Given the description of an element on the screen output the (x, y) to click on. 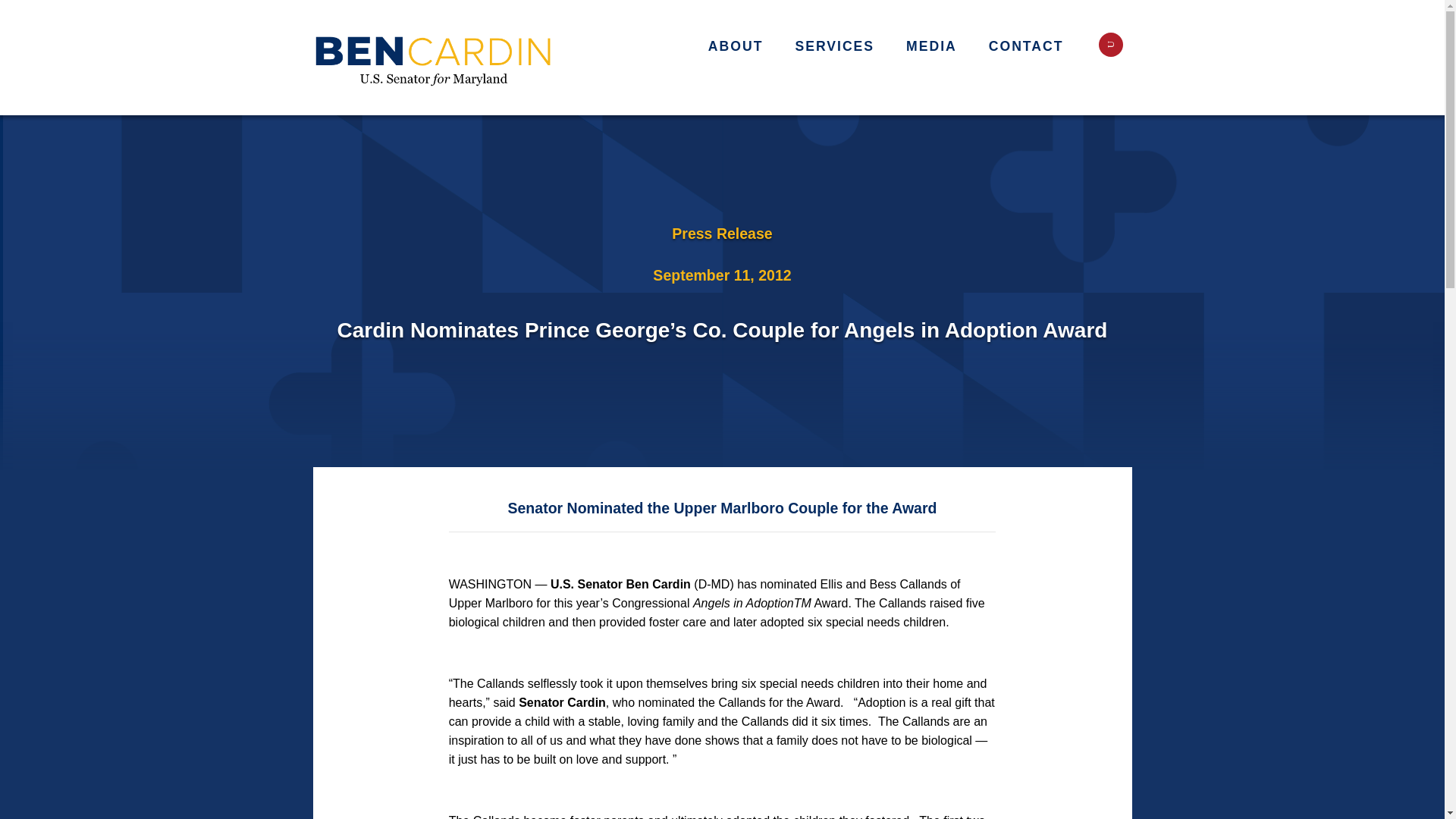
Large-Inner (433, 57)
ABOUT (742, 49)
